Given the description of an element on the screen output the (x, y) to click on. 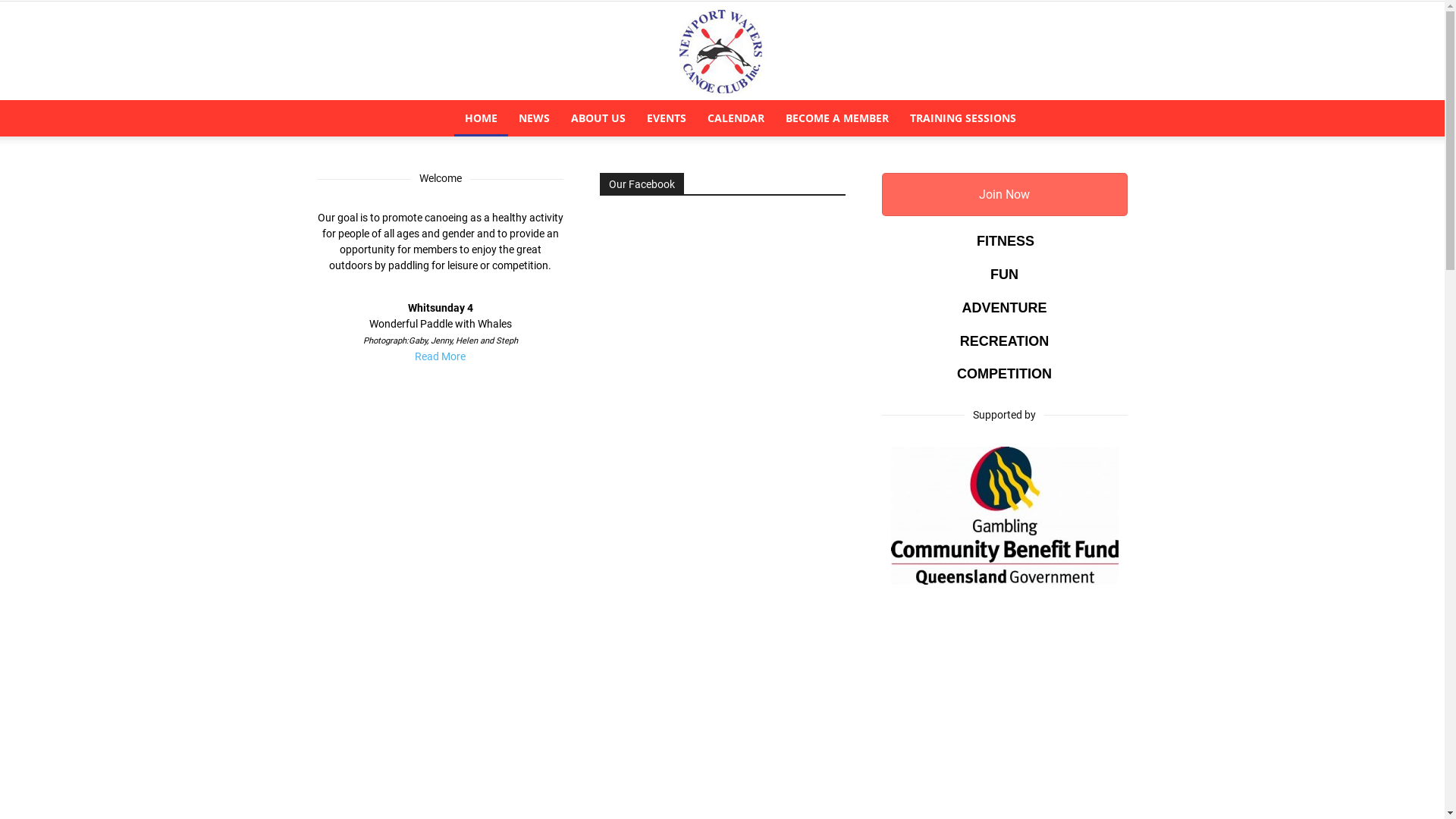
EVENTS Element type: text (666, 118)
ABOUT US Element type: text (598, 118)
TRAINING SESSIONS Element type: text (962, 118)
Join Now Element type: text (1003, 194)
Read More Element type: text (439, 356)
HOME Element type: text (481, 118)
BECOME A MEMBER Element type: text (837, 118)
Newport Waters Canoe Club Element type: text (722, 51)
NEWS Element type: text (534, 118)
CALENDAR Element type: text (735, 118)
